Given the description of an element on the screen output the (x, y) to click on. 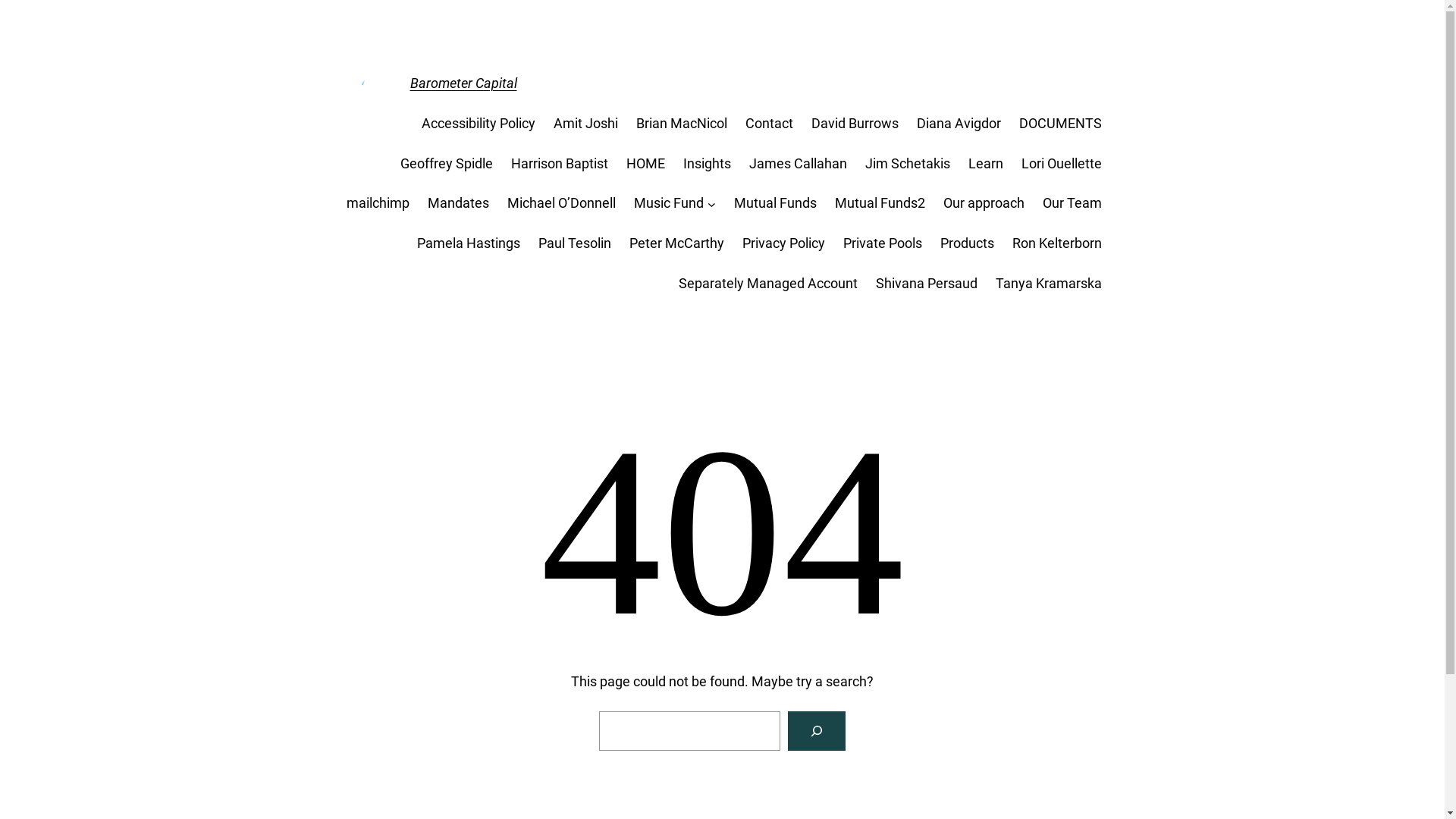
Separately Managed Account Element type: text (766, 283)
Amit Joshi Element type: text (585, 123)
DOCUMENTS Element type: text (1060, 123)
Learn Element type: text (984, 164)
Diana Avigdor Element type: text (958, 123)
Our approach Element type: text (983, 203)
David Burrows Element type: text (854, 123)
Shivana Persaud Element type: text (925, 283)
Lori Ouellette Element type: text (1060, 164)
Accessibility Policy Element type: text (478, 123)
Jim Schetakis Element type: text (906, 164)
HOME Element type: text (645, 164)
Pamela Hastings Element type: text (468, 243)
Harrison Baptist Element type: text (559, 164)
Ron Kelterborn Element type: text (1056, 243)
Mandates Element type: text (458, 203)
Paul Tesolin Element type: text (574, 243)
Mutual Funds2 Element type: text (879, 203)
Contact Element type: text (768, 123)
Private Pools Element type: text (882, 243)
Geoffrey Spidle Element type: text (446, 164)
Barometer Capital Element type: text (462, 83)
Insights Element type: text (706, 164)
Mutual Funds Element type: text (775, 203)
Privacy Policy Element type: text (782, 243)
Products Element type: text (967, 243)
Tanya Kramarska Element type: text (1047, 283)
Our Team Element type: text (1071, 203)
Peter McCarthy Element type: text (676, 243)
mailchimp Element type: text (377, 203)
Music Fund Element type: text (668, 203)
Brian MacNicol Element type: text (680, 123)
James Callahan Element type: text (798, 164)
